Given the description of an element on the screen output the (x, y) to click on. 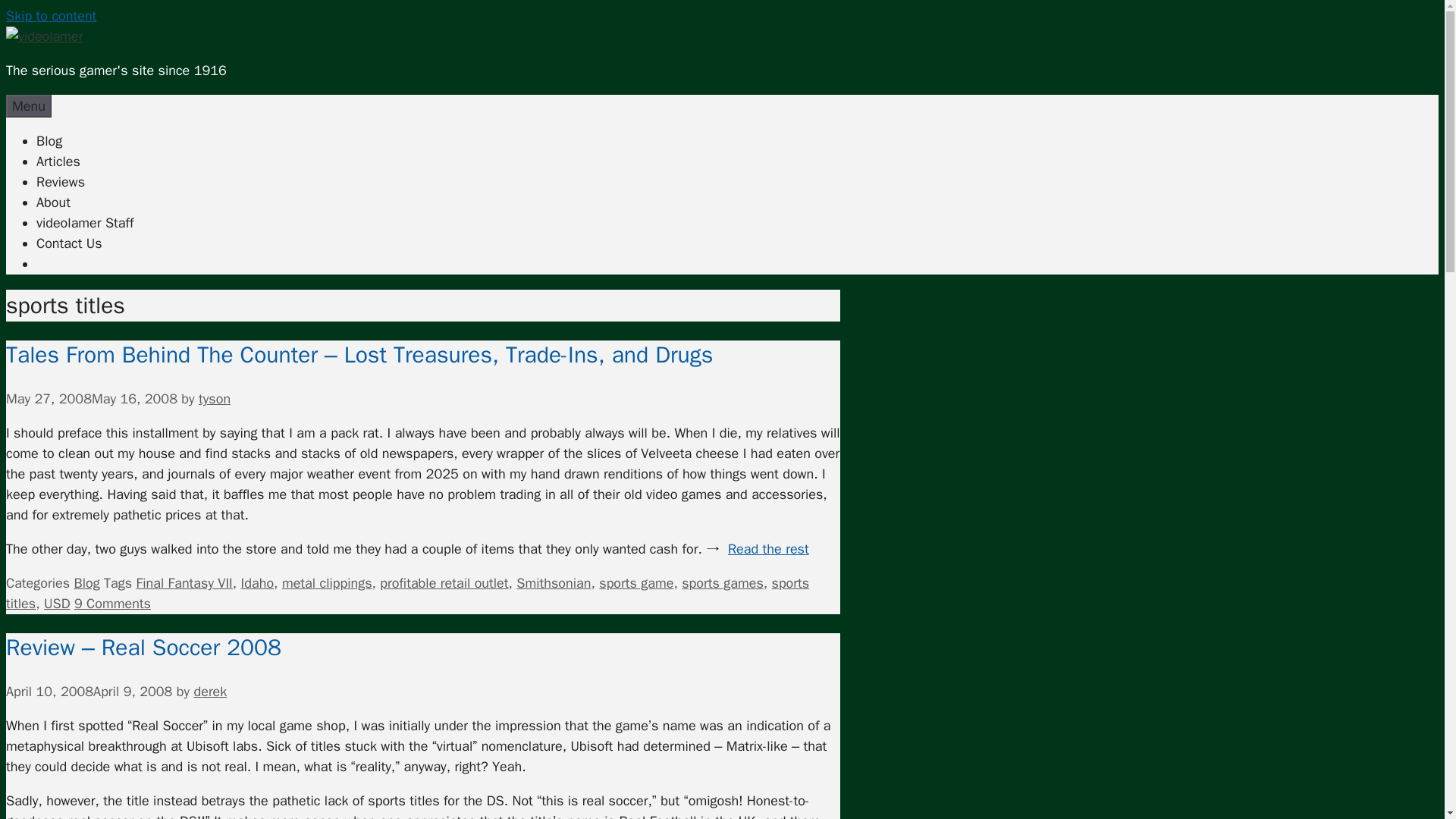
derek (210, 691)
Skip to content (50, 15)
Reviews (60, 181)
videolamer Staff (84, 222)
metal clippings (327, 582)
sports games (721, 582)
Skip to content (50, 15)
Read the rest (768, 548)
View all posts by tyson (214, 398)
Final Fantasy VII (184, 582)
